Given the description of an element on the screen output the (x, y) to click on. 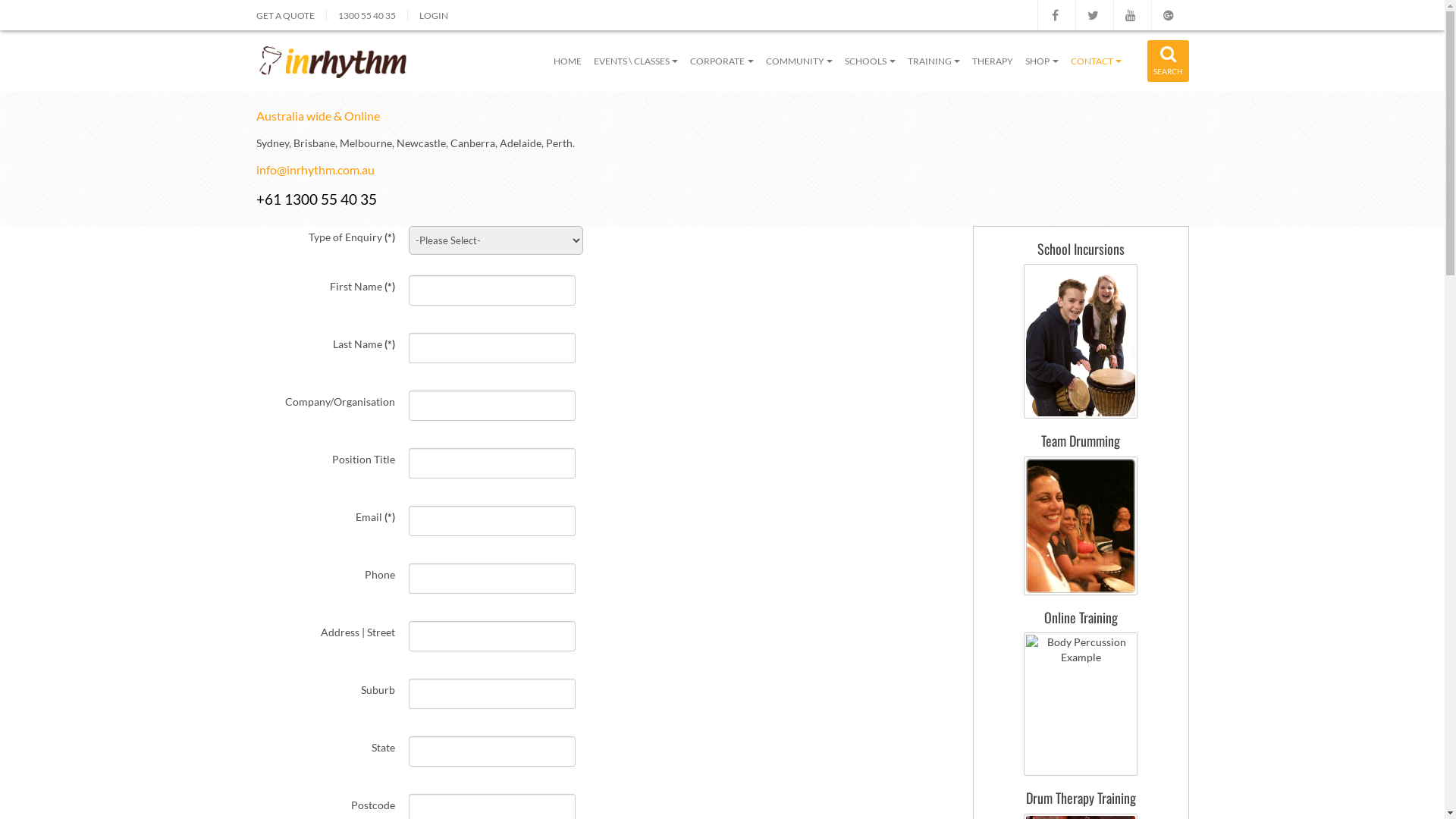
COMMUNITY Element type: text (799, 60)
Team Drumming Element type: text (1080, 440)
LOGIN Element type: text (432, 15)
1300 55 40 35 Element type: text (366, 15)
School Incursions Element type: text (1080, 248)
Body Percussion Example Element type: hover (1080, 703)
JA Alpha Element type: hover (334, 60)
EVENTS \ CLASSES Element type: text (635, 60)
TRAINING Element type: text (933, 60)
info@inrhythm.com.au Element type: text (315, 169)
GET A QUOTE Element type: text (285, 15)
  Element type: text (1170, 15)
THERAPY Element type: text (992, 60)
Drum Therapy Training Element type: text (1080, 797)
SCHOOLS Element type: text (869, 60)
SHOP Element type: text (1041, 60)
  Element type: text (1094, 15)
CORPORATE Element type: text (721, 60)
  Element type: text (1132, 15)
  Element type: text (1056, 15)
CONTACT Element type: text (1096, 60)
HOME Element type: text (567, 60)
team drumming Element type: hover (1080, 525)
Online Training Element type: text (1080, 617)
